Given the description of an element on the screen output the (x, y) to click on. 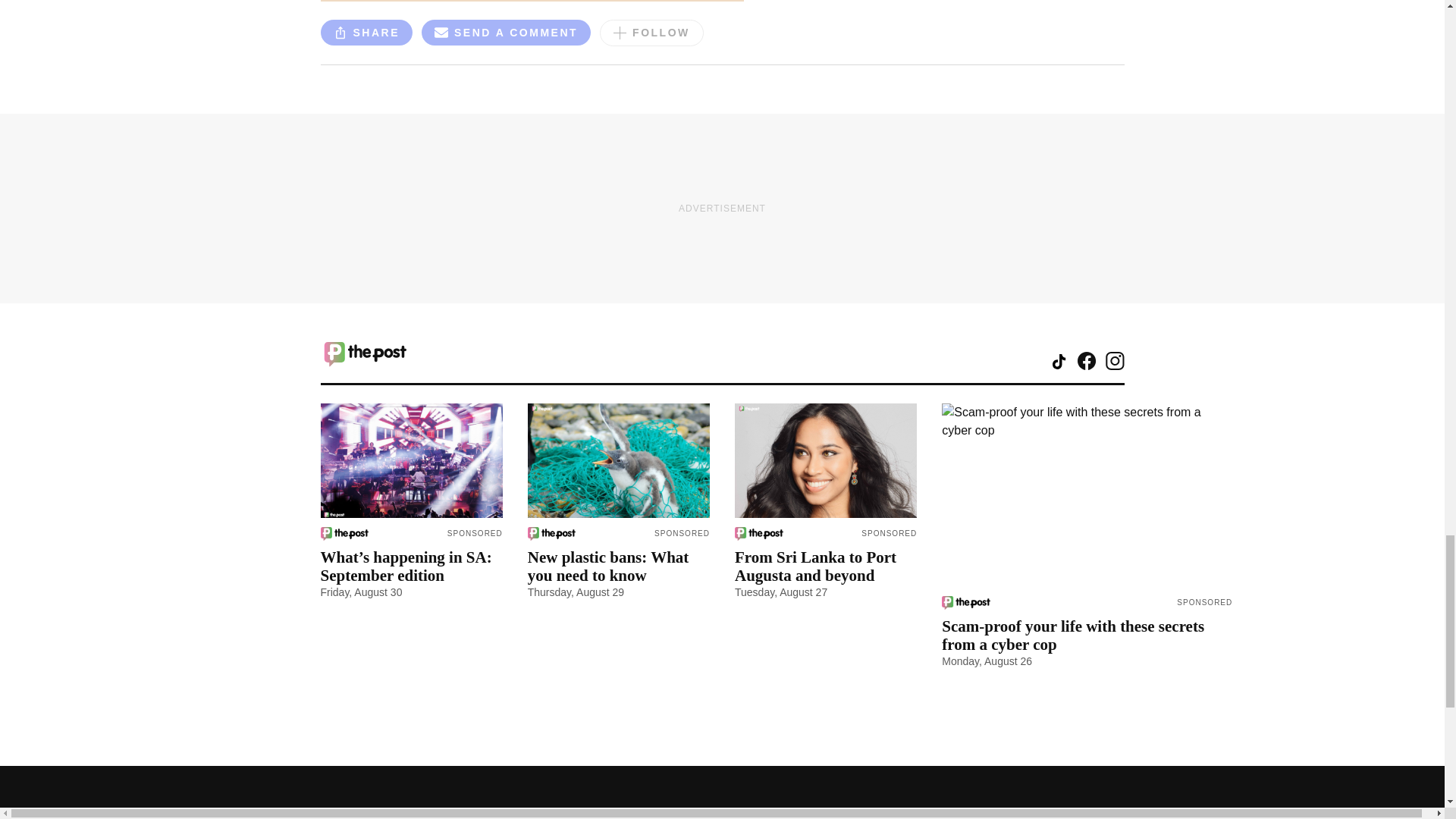
SEND A COMMENT (506, 32)
SHARE (366, 32)
FOLLOW (651, 32)
SEND A COMMENT (506, 34)
